Given the description of an element on the screen output the (x, y) to click on. 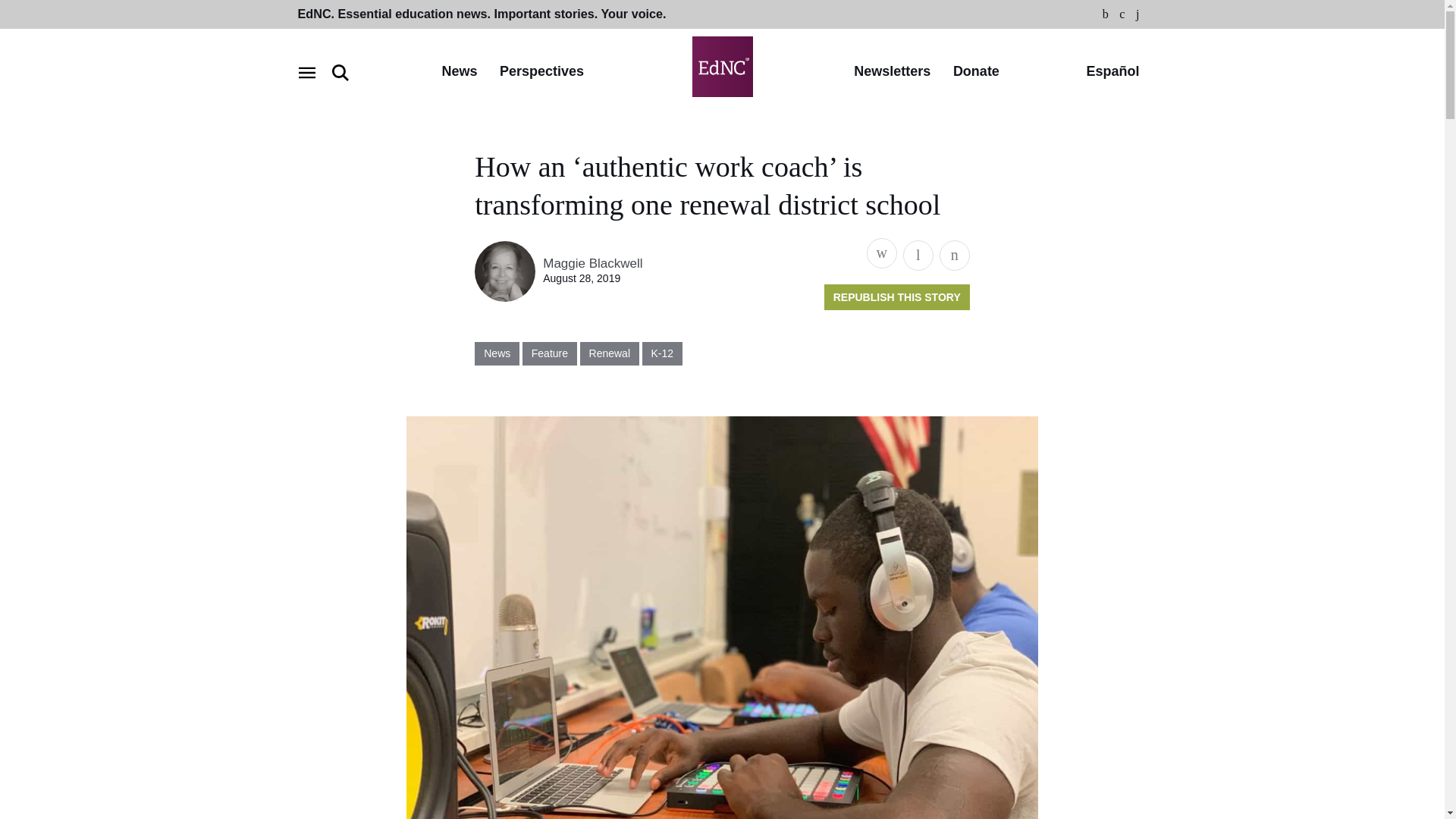
Open navigation (306, 72)
Maggie Blackwell (592, 263)
Newsletters (891, 71)
Donate (975, 71)
Perspectives (541, 71)
News (459, 71)
Share this page (881, 253)
